Given the description of an element on the screen output the (x, y) to click on. 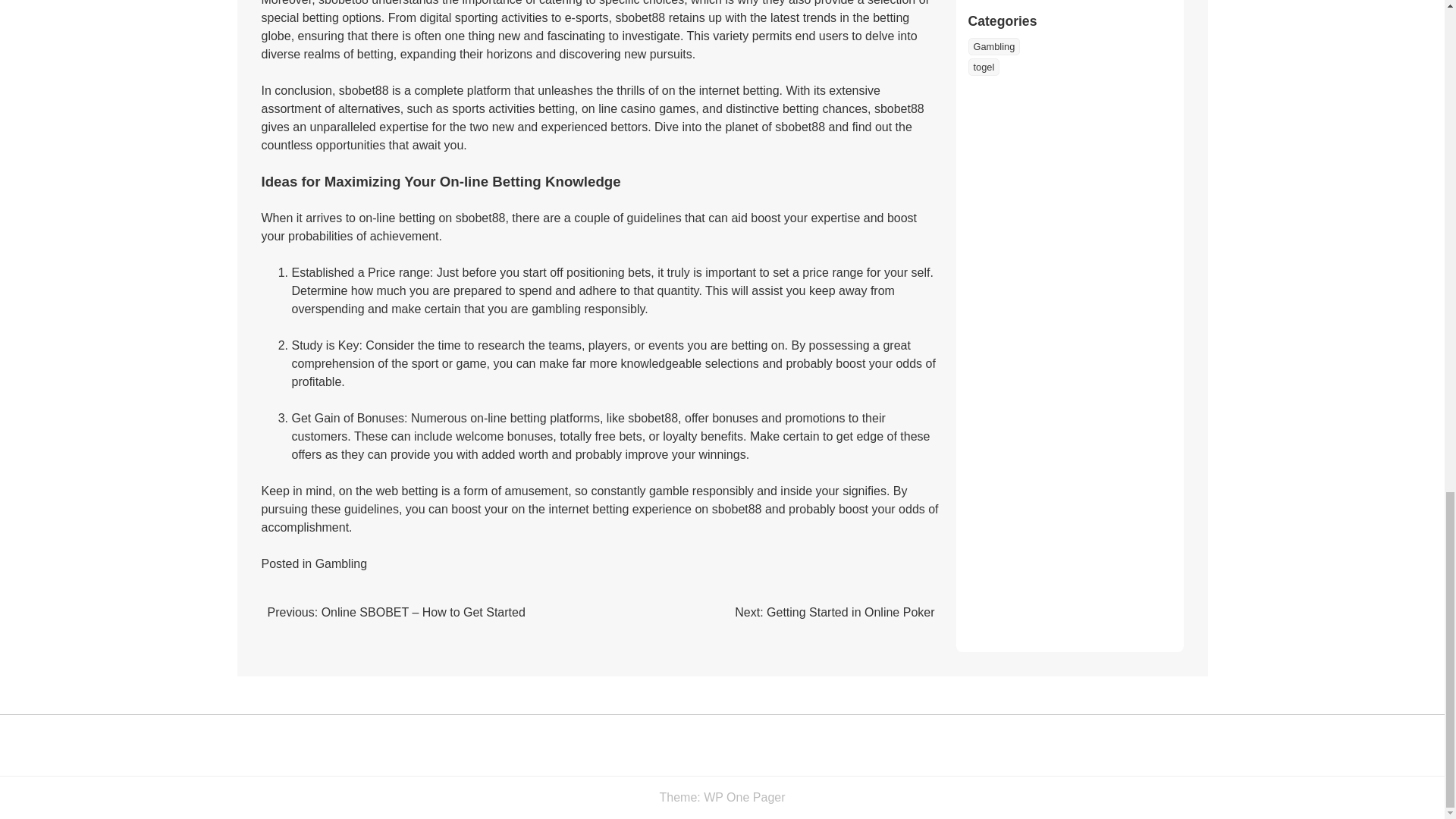
Next: Getting Started in Online Poker (834, 612)
Gambling (340, 563)
